Given the description of an element on the screen output the (x, y) to click on. 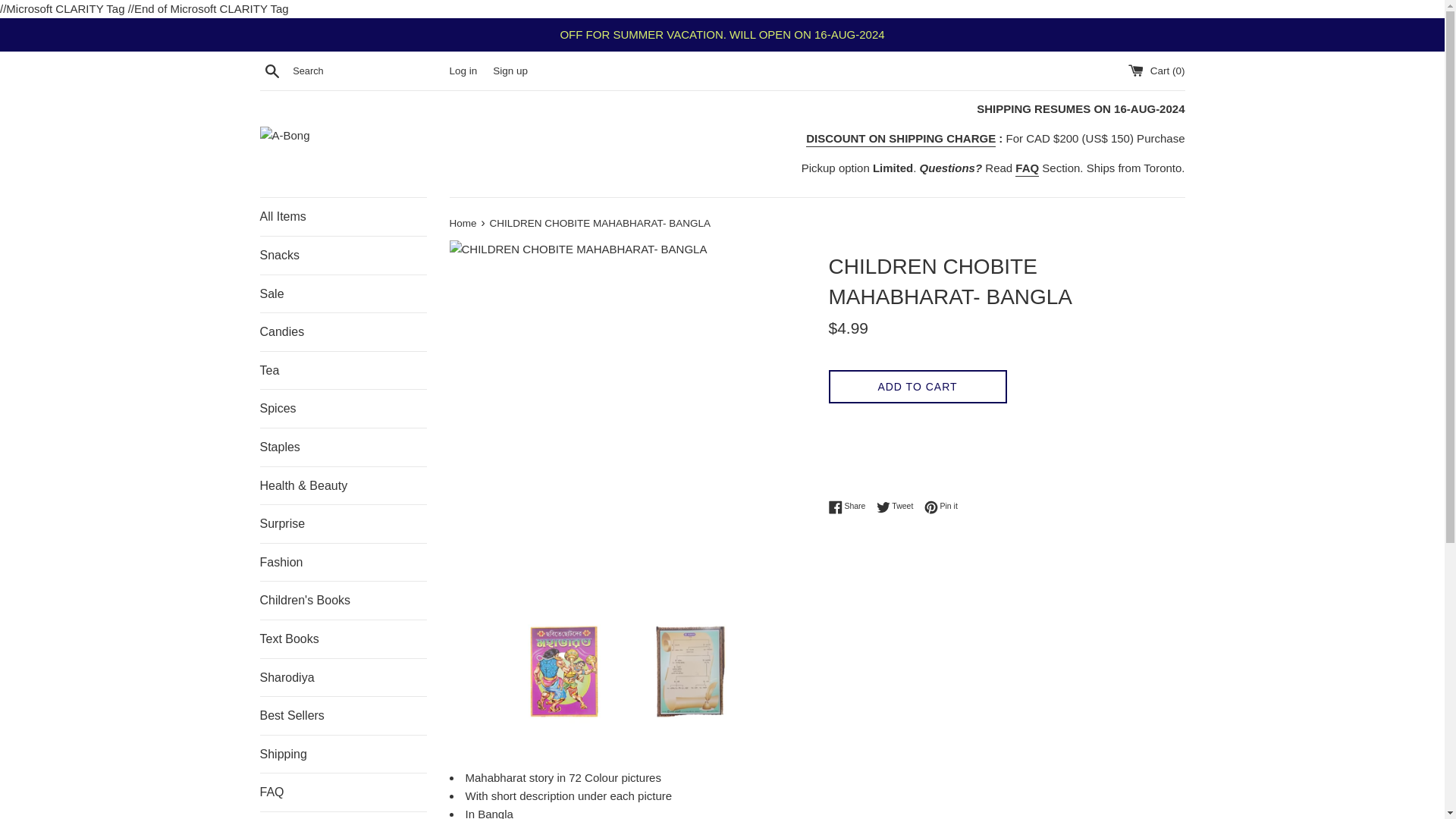
Snacks (342, 255)
Search (271, 70)
Tea (898, 506)
Contact (342, 370)
FAQ (342, 815)
Share on Facebook (342, 792)
Sale (850, 506)
Sign up (342, 293)
Sharodiya (510, 70)
Shipping (342, 677)
Staples (342, 754)
Fashion (342, 447)
FAQ (342, 562)
Candies (1026, 168)
